Given the description of an element on the screen output the (x, y) to click on. 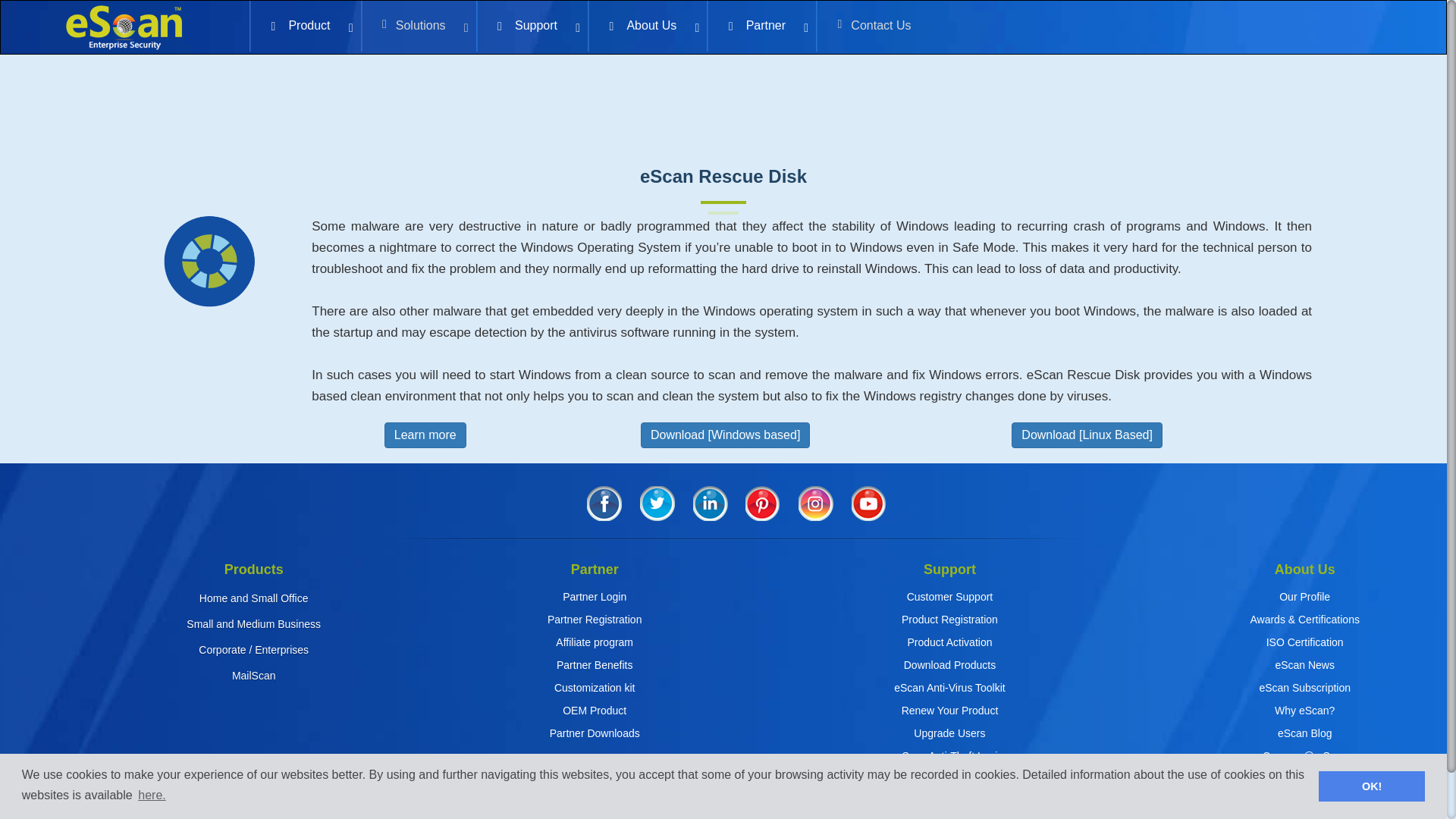
OK! (1372, 786)
here. (723, 27)
eScan Rescue Disk (151, 794)
Product (208, 261)
